Given the description of an element on the screen output the (x, y) to click on. 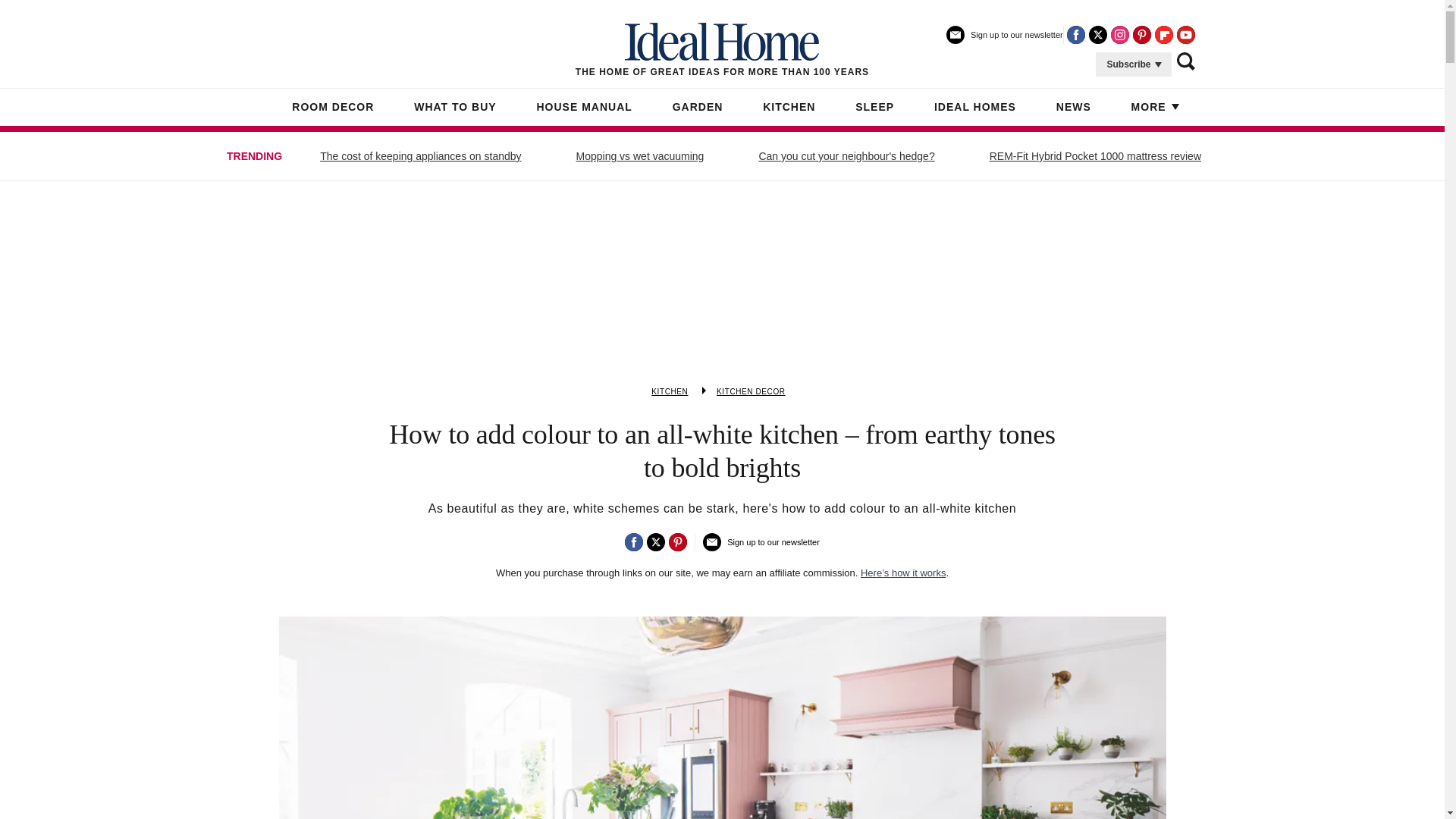
Sign up to our newsletter (1004, 40)
NEWS (1073, 108)
HOUSE MANUAL (583, 108)
Can you cut your neighbour's hedge? (845, 155)
ROOM DECOR (333, 108)
KITCHEN (668, 391)
WHAT TO BUY (454, 108)
REM-Fit Hybrid Pocket 1000 mattress review (1095, 155)
The cost of keeping appliances on standby (419, 155)
Mopping vs wet vacuuming (640, 155)
IDEAL HOMES (975, 108)
KITCHEN DECOR (751, 391)
SLEEP (874, 108)
THE HOME OF GREAT IDEAS FOR MORE THAN 100 YEARS (722, 49)
GARDEN (697, 108)
